Given the description of an element on the screen output the (x, y) to click on. 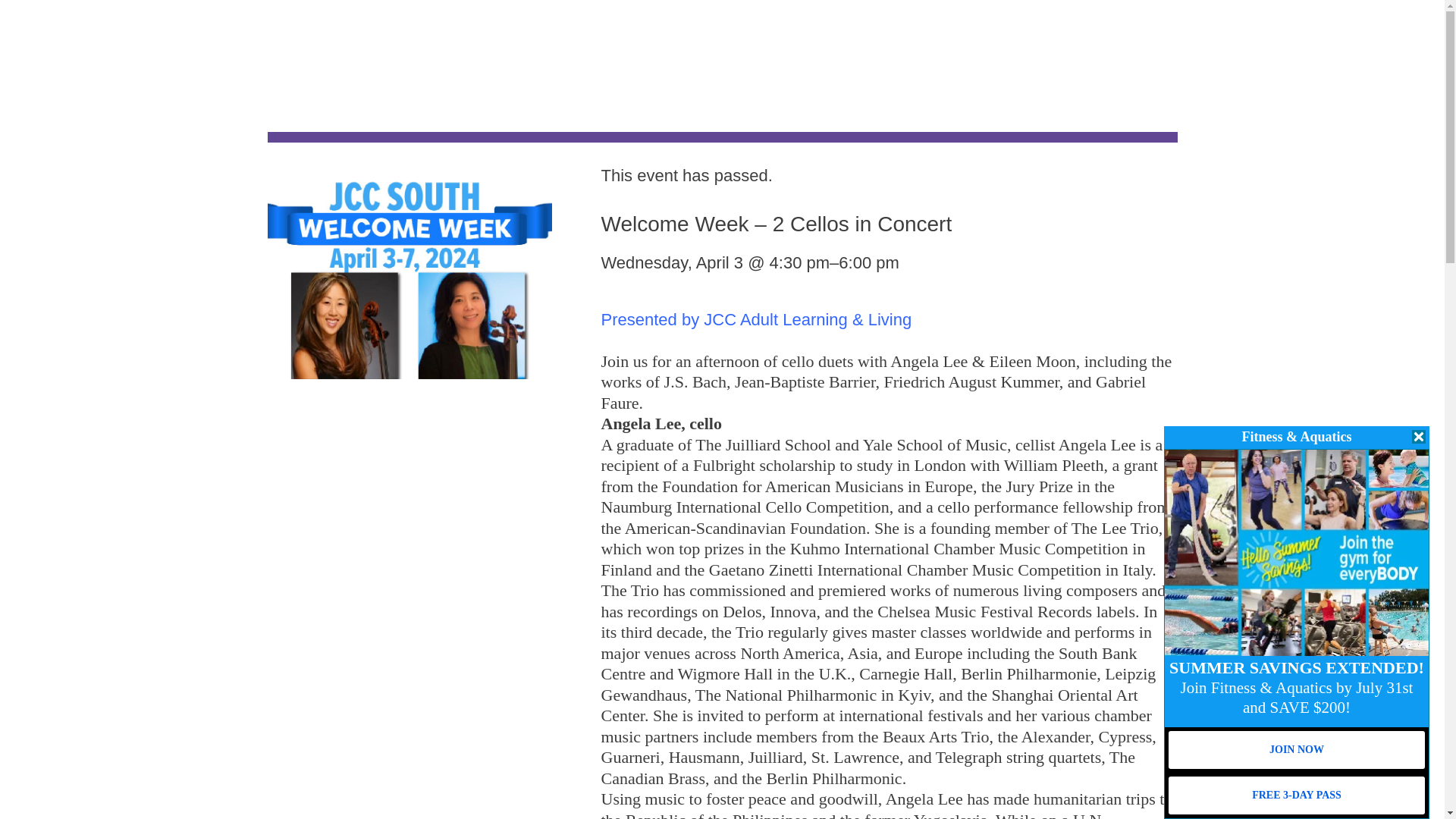
JOIN NOW (1297, 750)
Close (1418, 436)
FREE 3-DAY PASS (1297, 795)
